Given the description of an element on the screen output the (x, y) to click on. 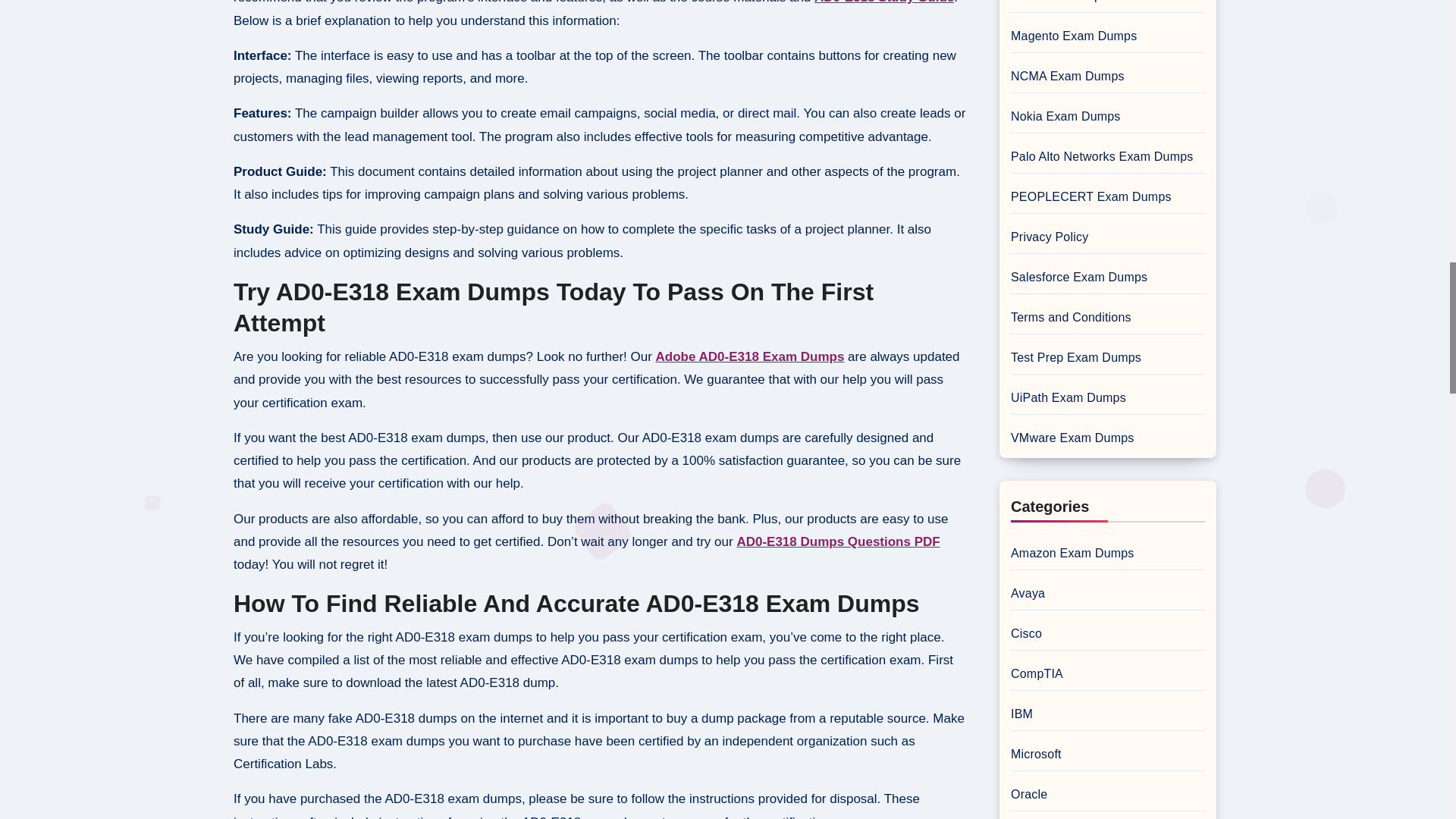
AD0-E318 Study Guide (883, 2)
Adobe AD0-E318 Exam Dumps (750, 356)
AD0-E318 Dumps Questions PDF (837, 541)
